Given the description of an element on the screen output the (x, y) to click on. 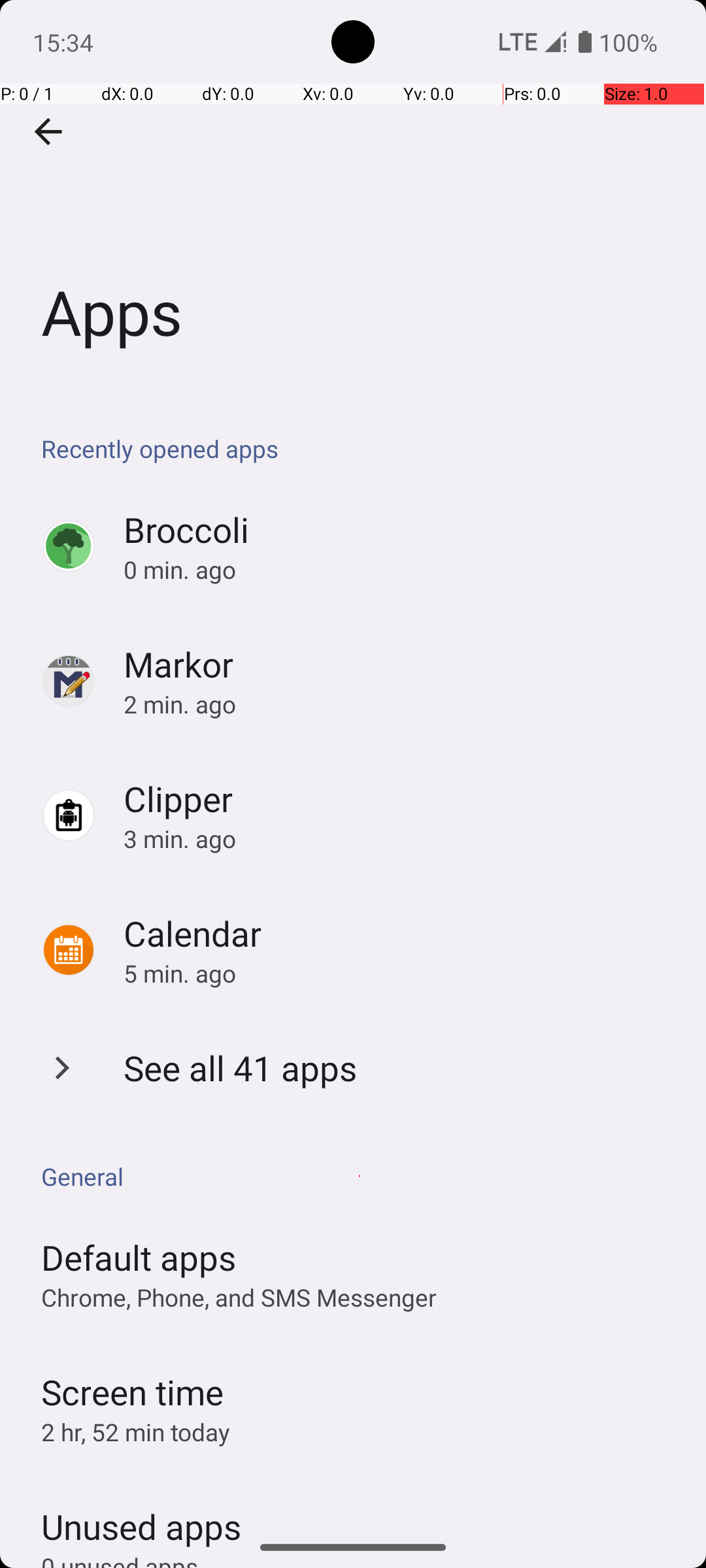
0 min. ago Element type: android.widget.TextView (400, 569)
Clipper Element type: android.widget.TextView (177, 798)
3 min. ago Element type: android.widget.TextView (400, 838)
5 min. ago Element type: android.widget.TextView (400, 972)
2 hr, 52 min today Element type: android.widget.TextView (135, 1431)
